Given the description of an element on the screen output the (x, y) to click on. 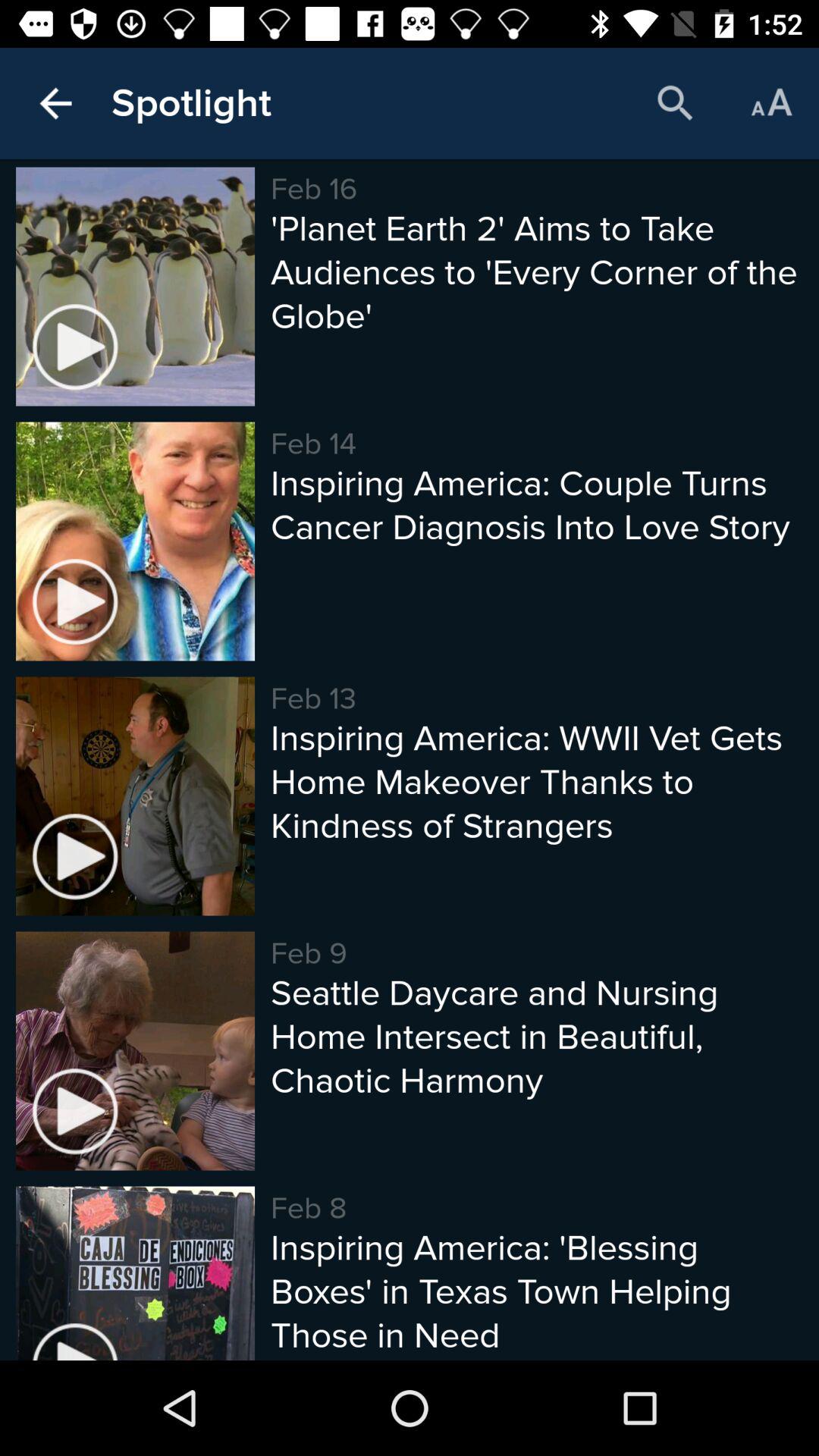
open the item next to the feb 16 item (191, 103)
